Given the description of an element on the screen output the (x, y) to click on. 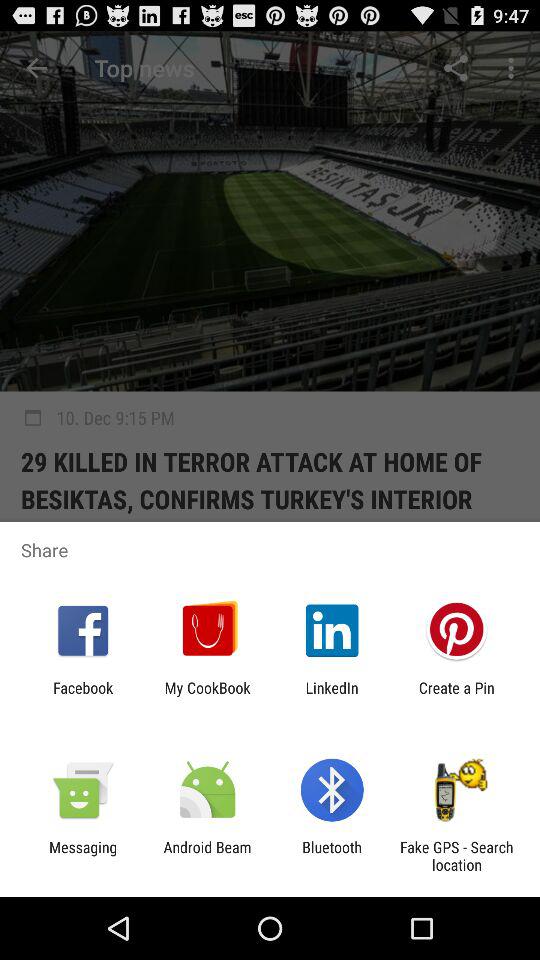
open android beam icon (207, 856)
